Given the description of an element on the screen output the (x, y) to click on. 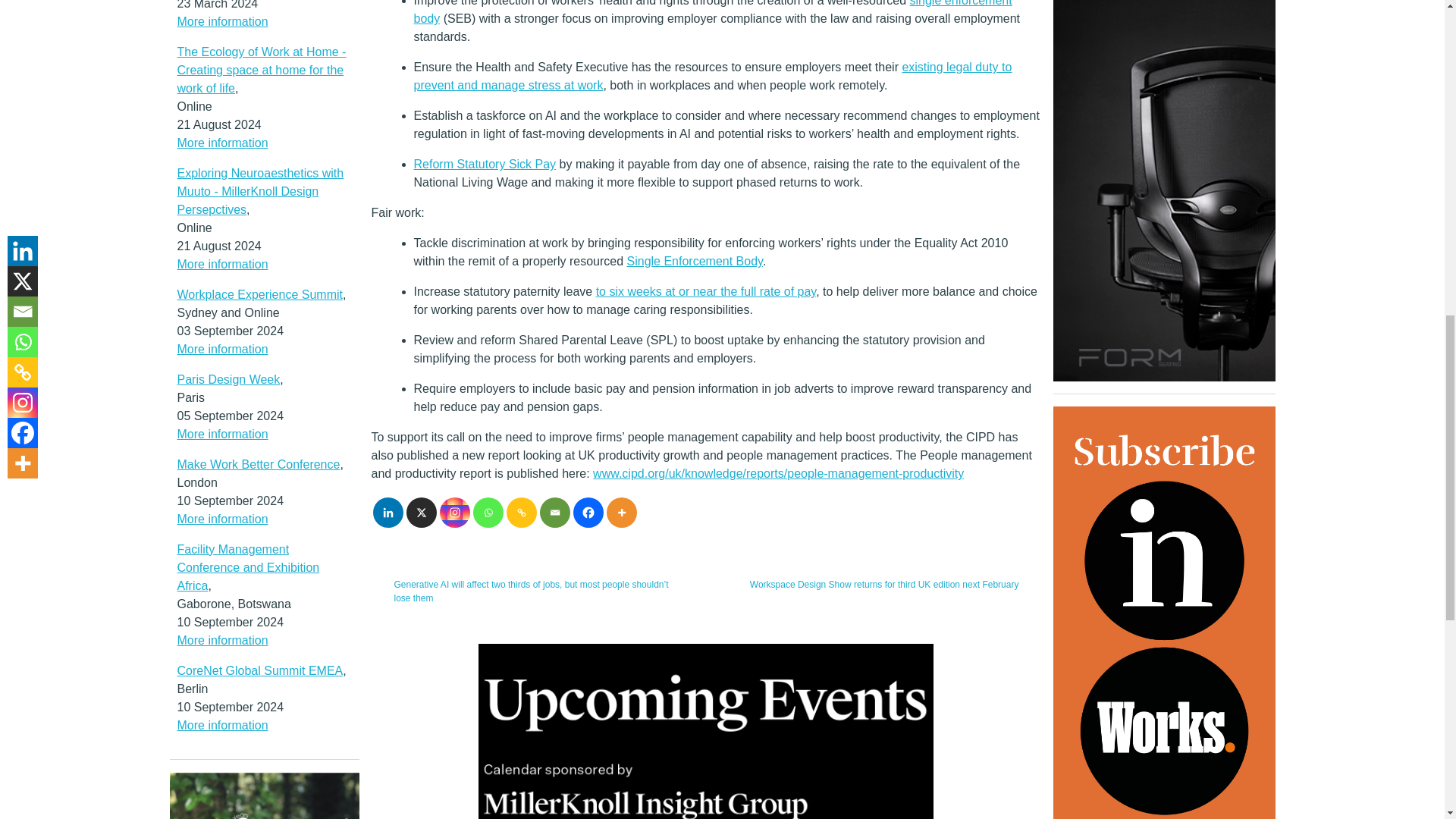
Copy Link (521, 512)
Instagram (454, 512)
X (421, 512)
Linkedin (387, 512)
More information (222, 21)
Facebook (588, 512)
Email (555, 512)
Whatsapp (488, 512)
More (622, 512)
